Given the description of an element on the screen output the (x, y) to click on. 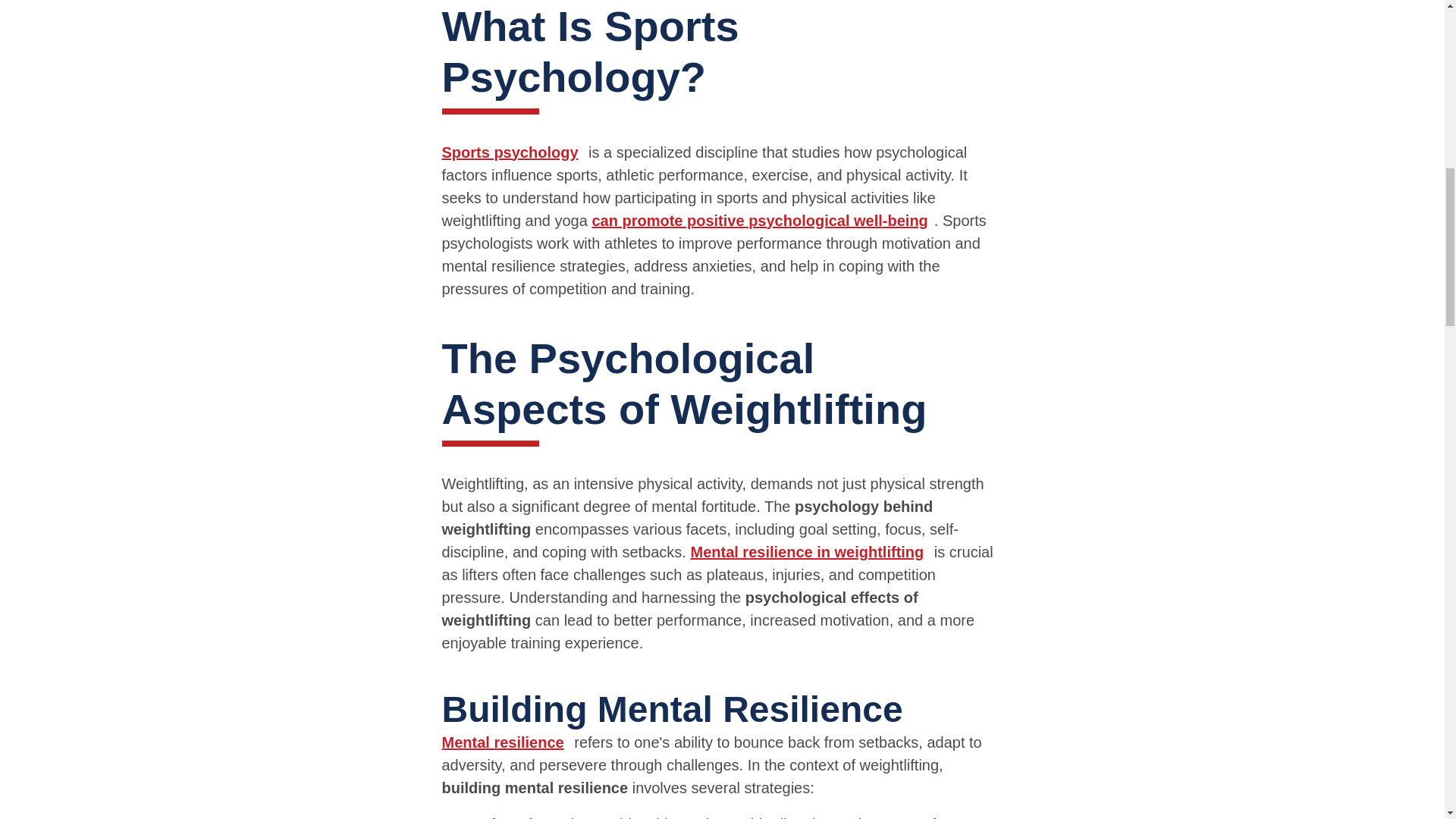
Mental resilience in weightlifting (810, 551)
can promote positive psychological well-being (762, 220)
Sports psychology (512, 152)
Mental resilience (505, 742)
